Given the description of an element on the screen output the (x, y) to click on. 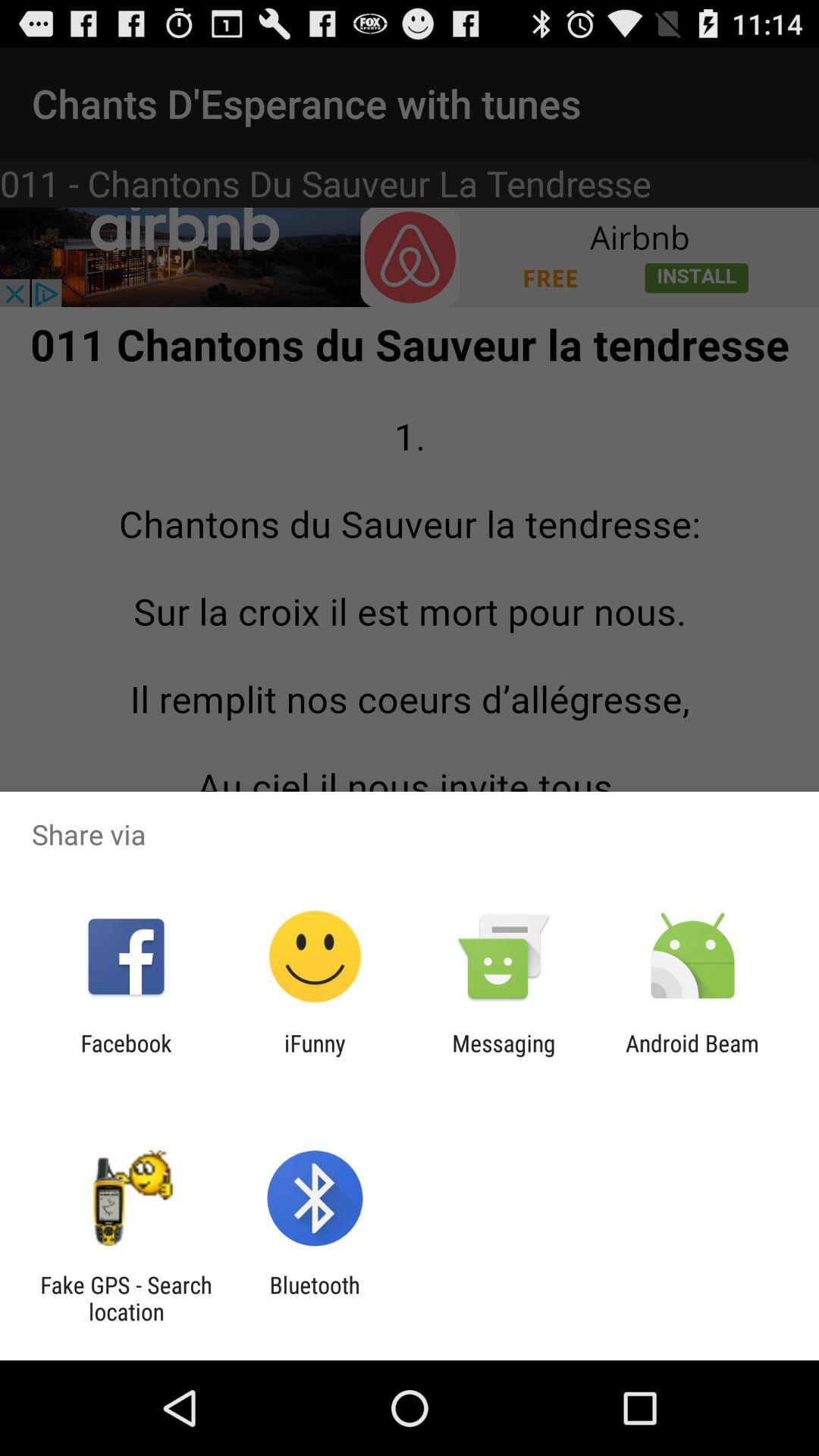
open the icon next to messaging app (314, 1056)
